Given the description of an element on the screen output the (x, y) to click on. 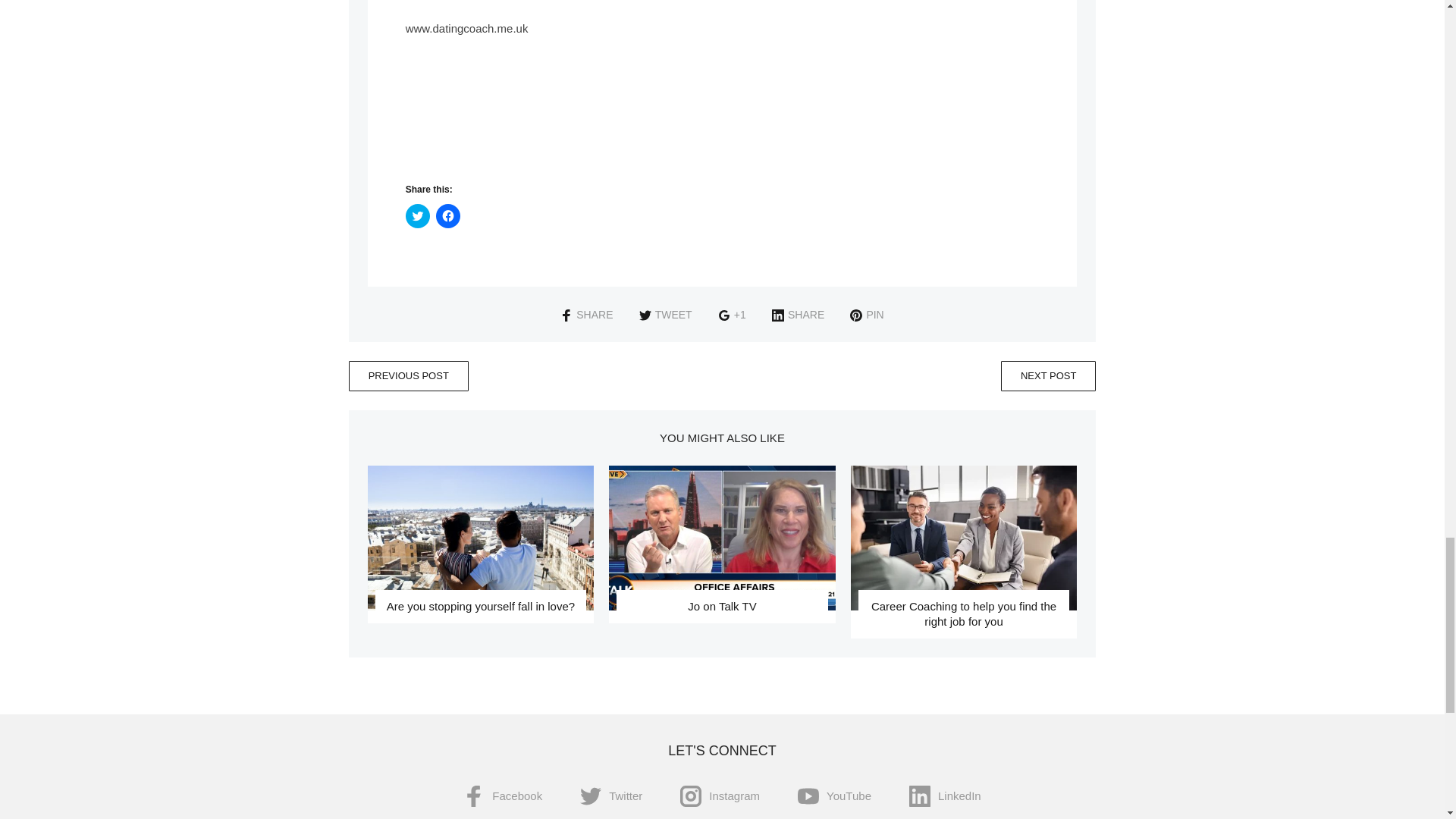
Career Coaching to help you find the right job for you (963, 538)
LinkedIn (944, 796)
NEXT POST (1048, 376)
Career Coaching to help you find the right job for you (963, 613)
Jo on Talk TV (721, 538)
Click to share on Twitter (417, 215)
YouTube (833, 796)
SHARE (797, 314)
PREVIOUS POST (408, 376)
Instagram (719, 796)
